Given the description of an element on the screen output the (x, y) to click on. 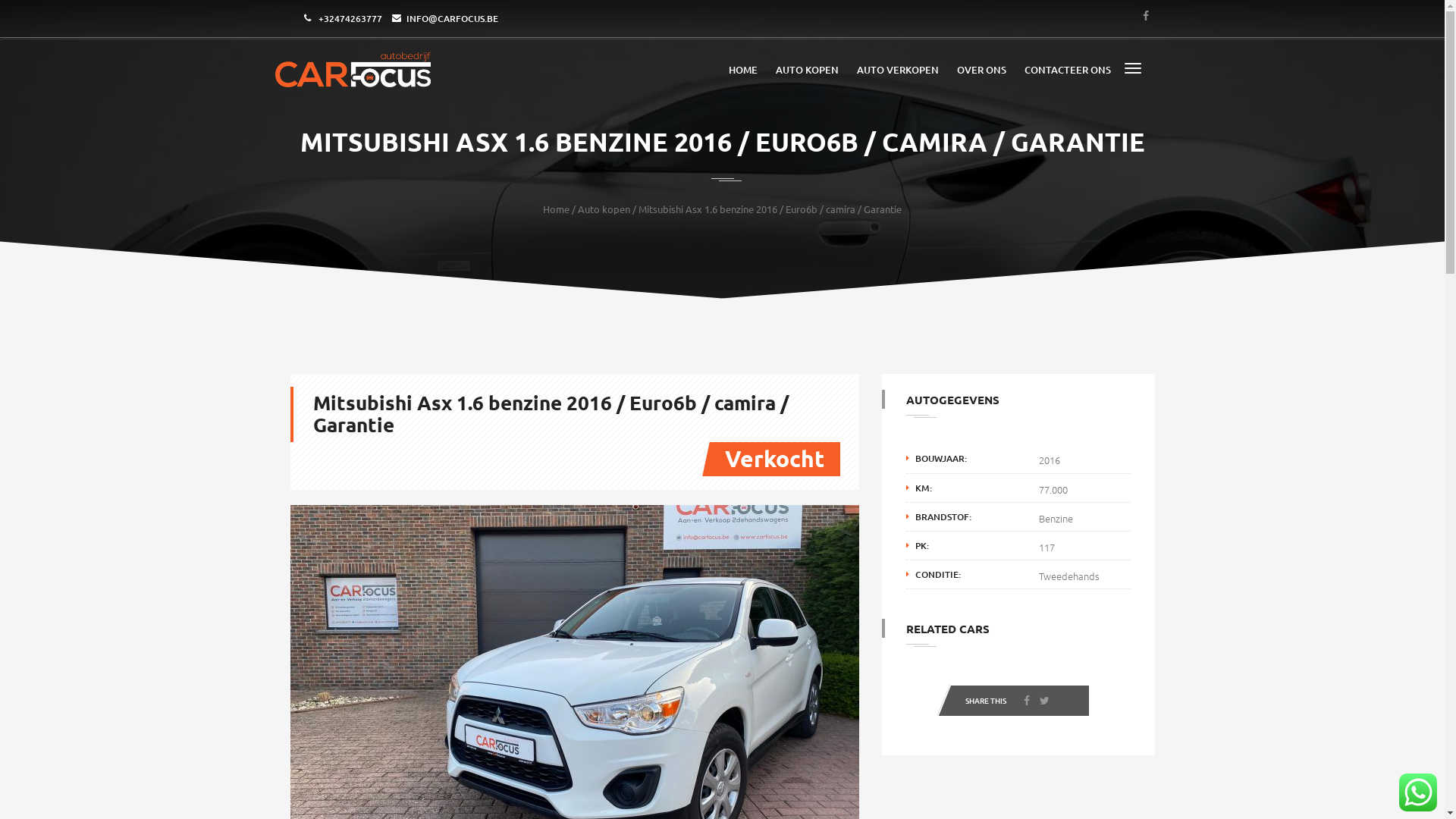
Facebook Element type: hover (1026, 701)
INFO@CARFOCUS.BE Element type: text (452, 18)
Auto kopen Element type: text (603, 208)
OVER ONS Element type: text (981, 69)
Home Element type: text (555, 208)
AUTO VERKOPEN Element type: text (897, 69)
HOME Element type: text (742, 69)
CONTACTEER ONS Element type: text (1066, 69)
Twitter Element type: hover (1043, 701)
AUTO KOPEN Element type: text (806, 69)
